Given the description of an element on the screen output the (x, y) to click on. 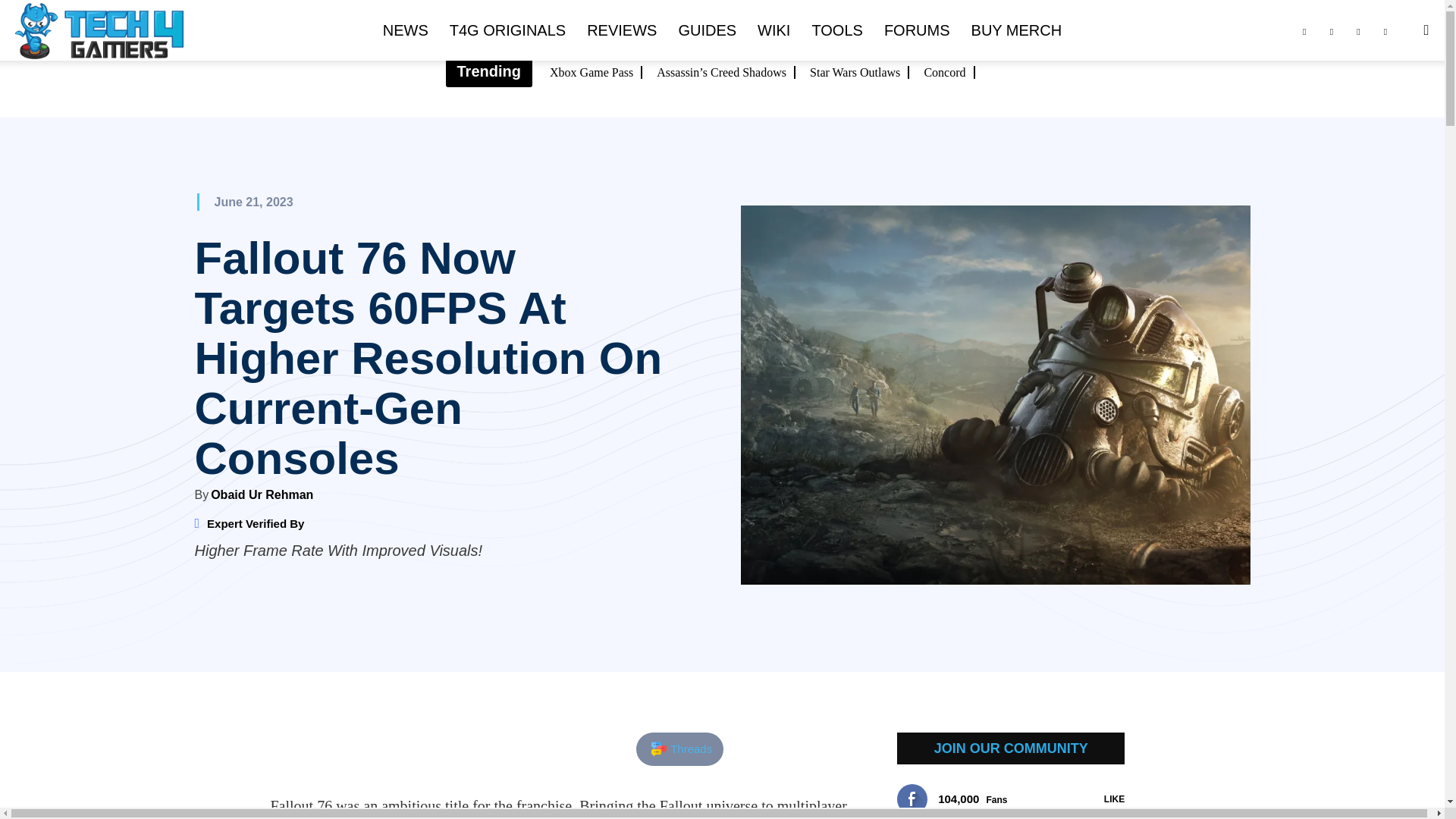
Xbox Game Pass (596, 72)
Tech4Gamers Logo (98, 30)
